Given the description of an element on the screen output the (x, y) to click on. 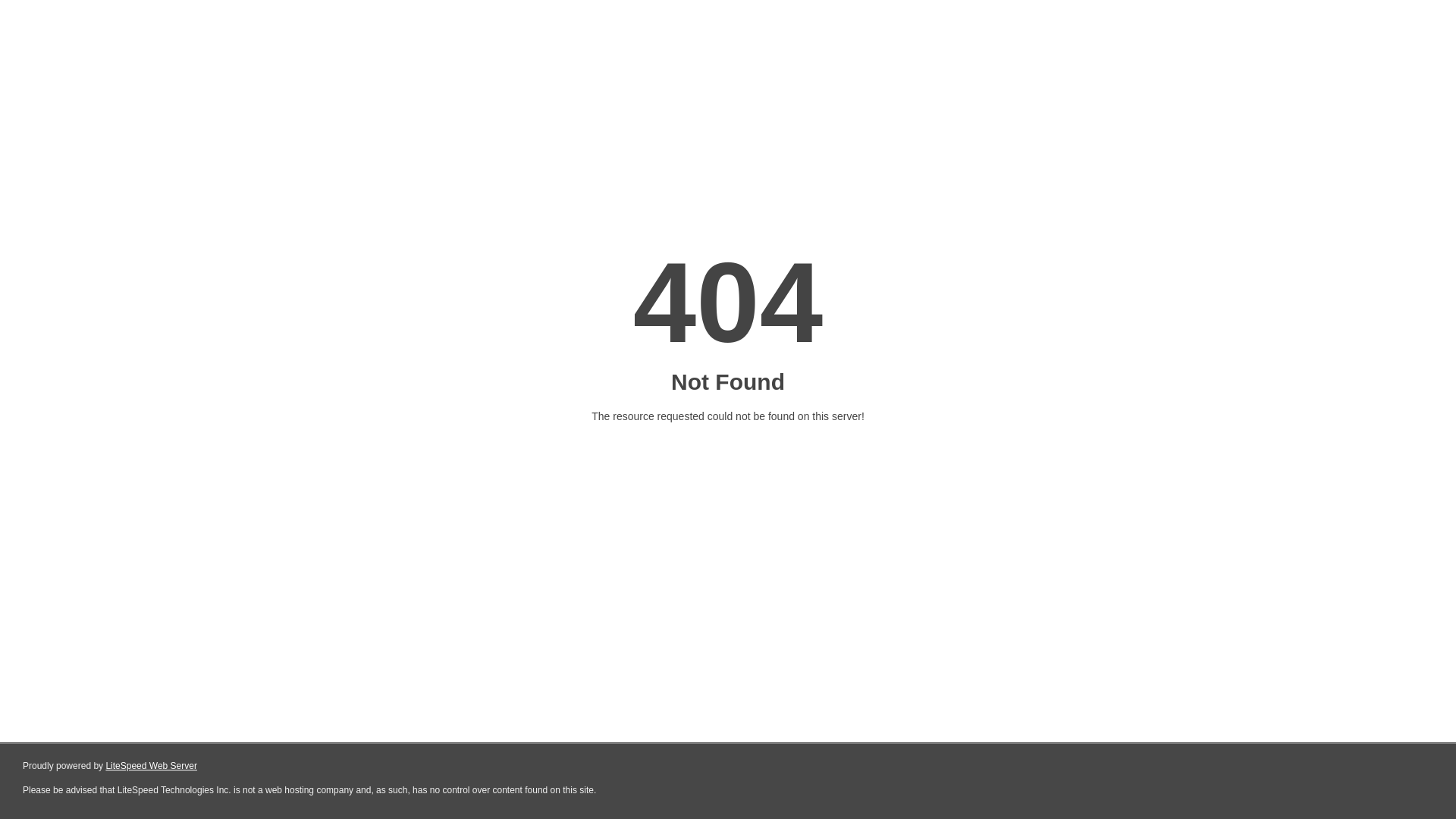
LiteSpeed Web Server Element type: text (151, 765)
